Given the description of an element on the screen output the (x, y) to click on. 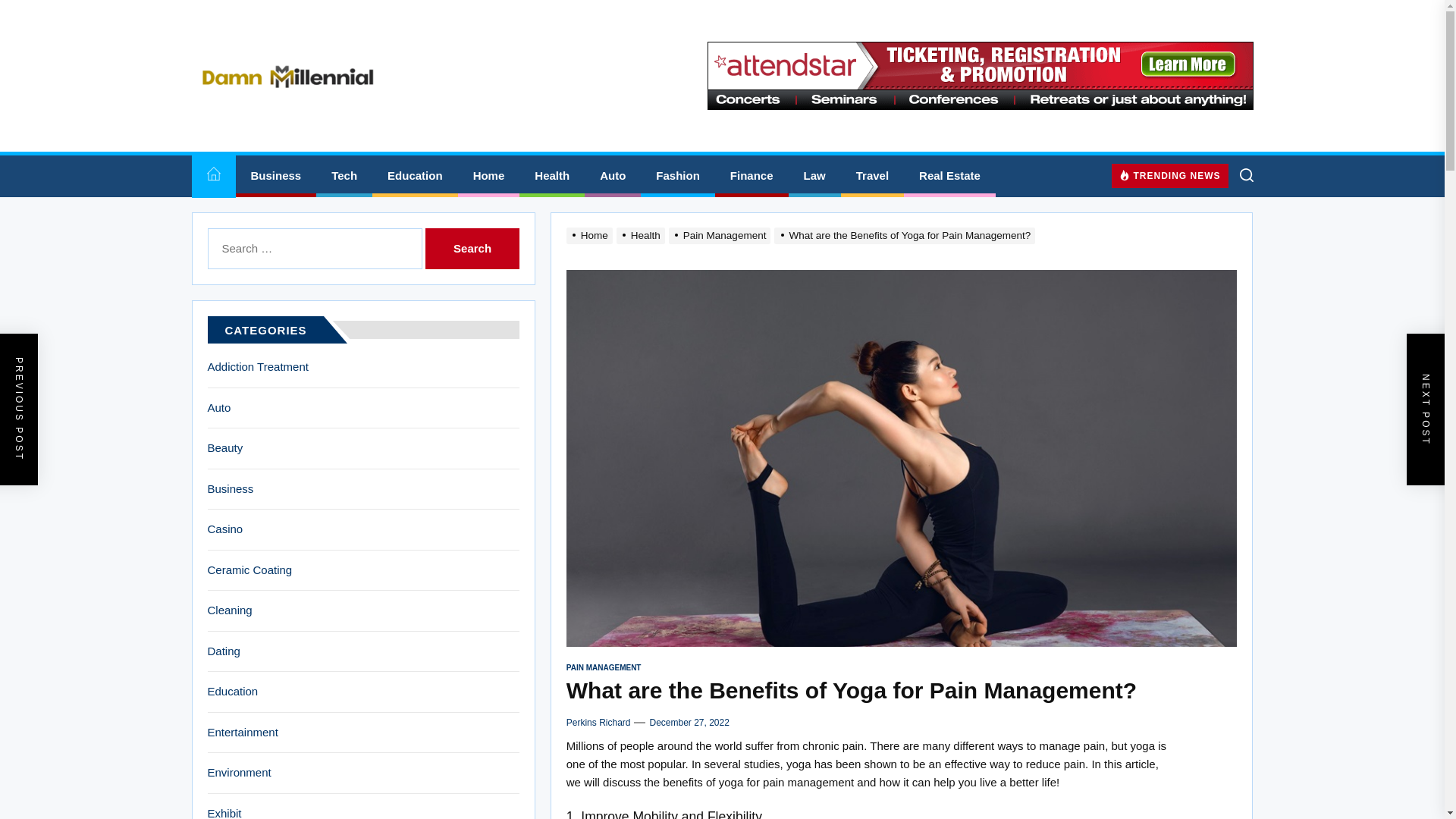
TRENDING NEWS (1170, 175)
Education (415, 176)
Damn Millennial (328, 120)
Auto (612, 176)
Law (815, 176)
Business (274, 176)
Header AD Image (979, 75)
Search (471, 248)
Real Estate (949, 176)
Health (552, 176)
Travel (872, 176)
Tech (343, 176)
Search (471, 248)
Fashion (677, 176)
Home (212, 176)
